Given the description of an element on the screen output the (x, y) to click on. 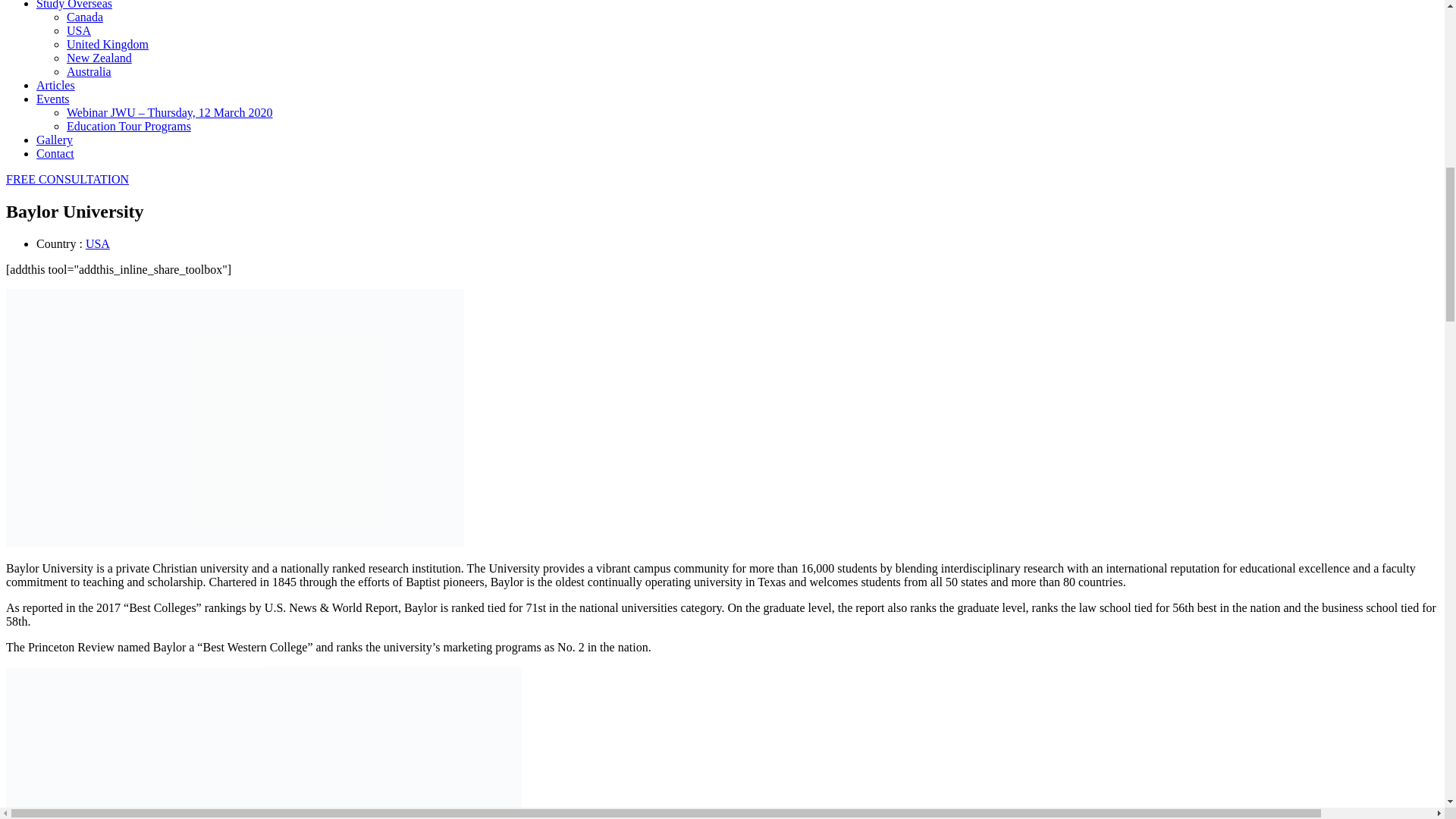
USA (78, 30)
Study Overseas (74, 4)
Canada (84, 16)
